Given the description of an element on the screen output the (x, y) to click on. 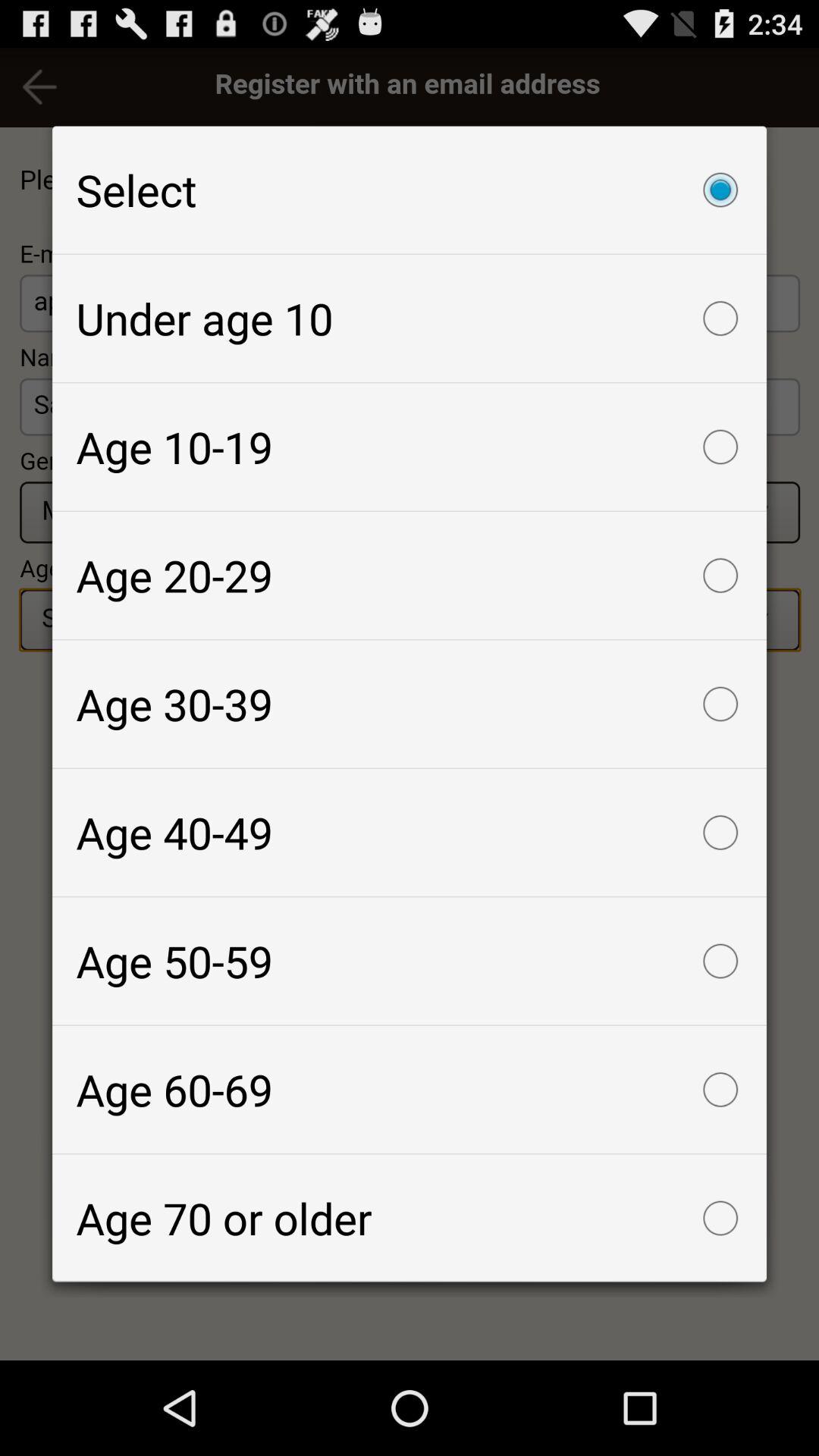
scroll until the age 70 or checkbox (409, 1217)
